Given the description of an element on the screen output the (x, y) to click on. 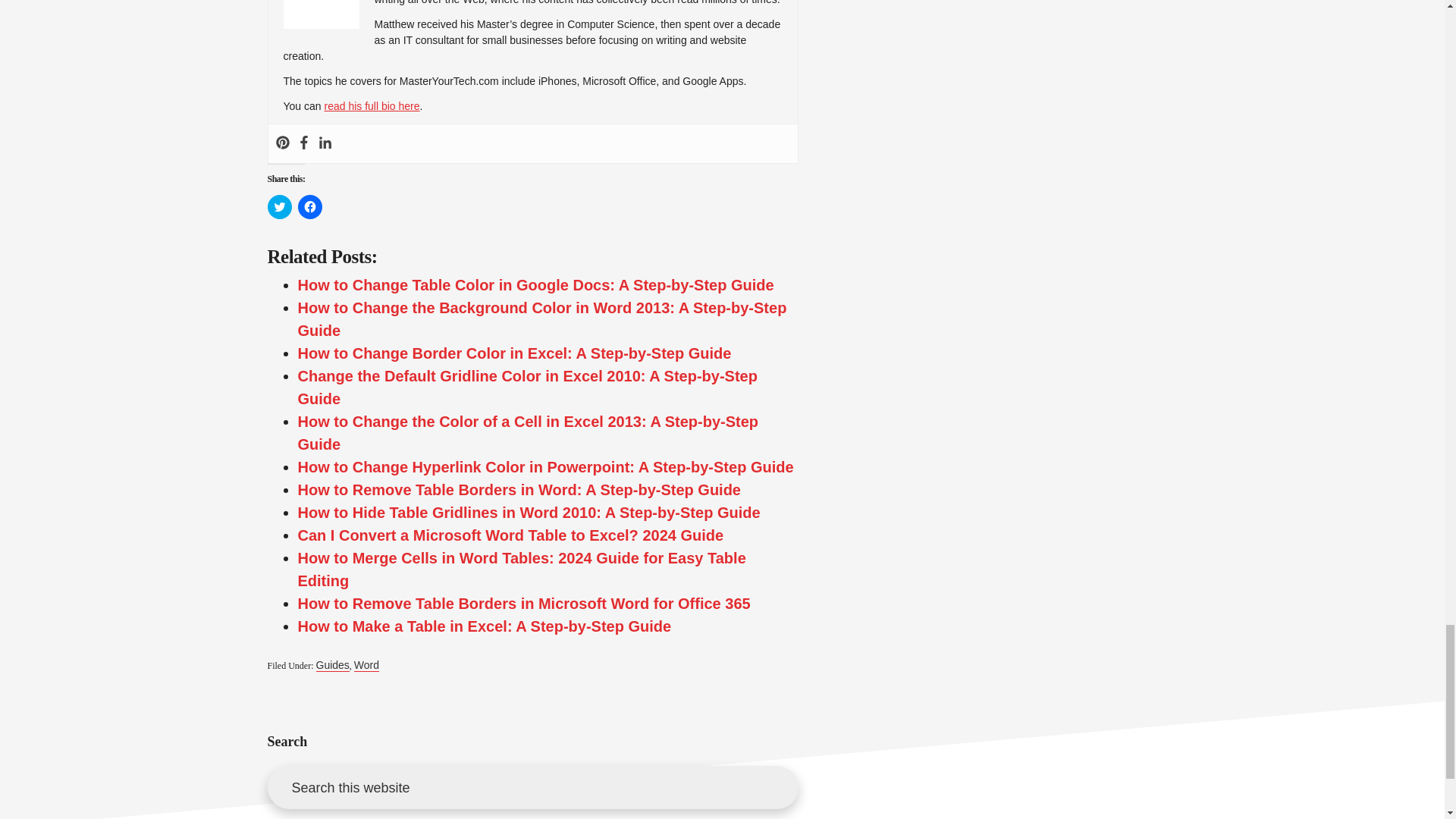
How to Change Border Color in Excel: A Step-by-Step Guide (513, 352)
Guides (332, 665)
Click to share on Twitter (278, 206)
How to Change Border Color in Excel: A Step-by-Step Guide (513, 352)
read his full bio here (371, 105)
How to Remove Table Borders in Microsoft Word for Office 365 (523, 603)
How to Remove Table Borders in Word: A Step-by-Step Guide (519, 489)
